Given the description of an element on the screen output the (x, y) to click on. 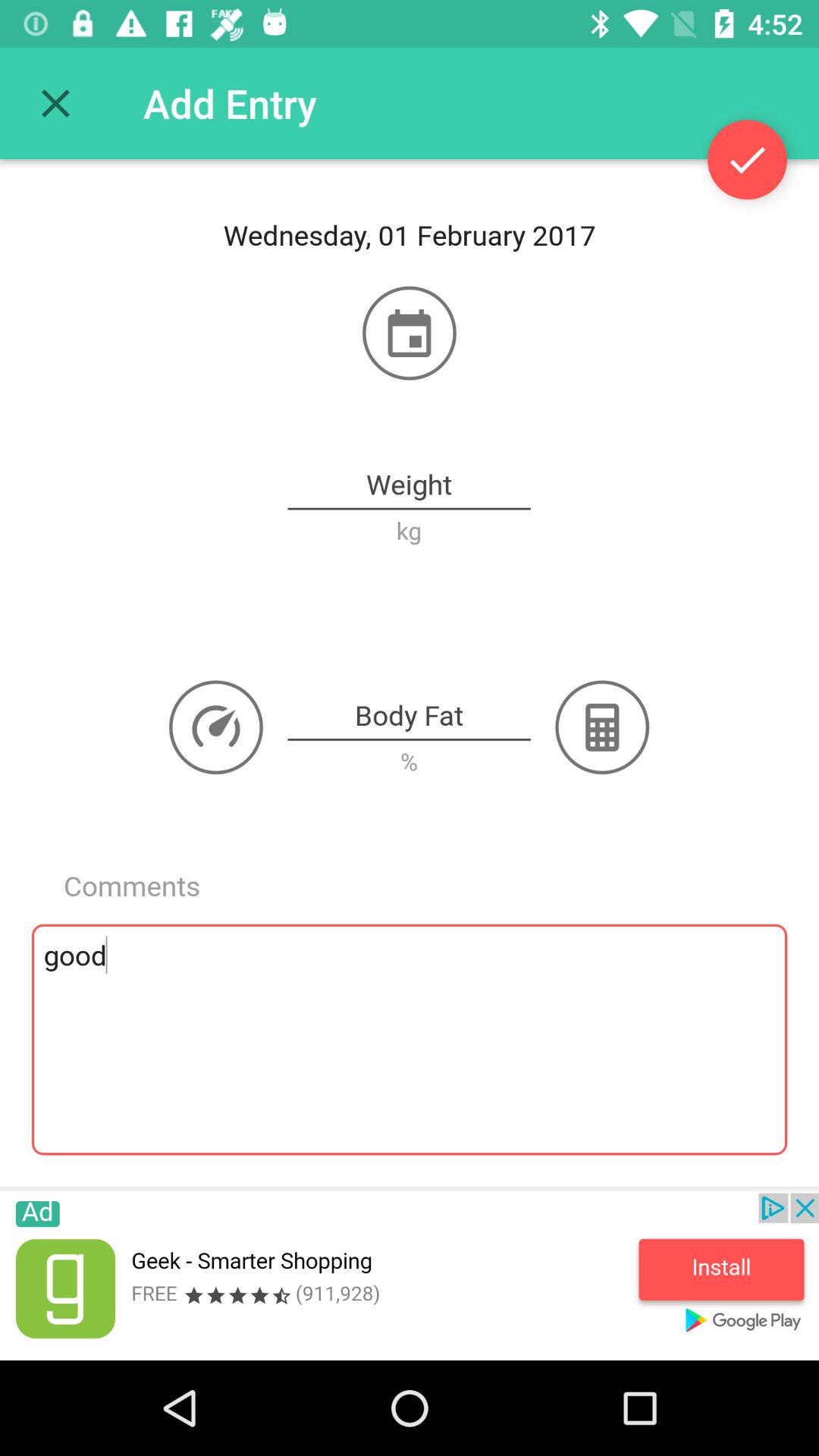
go to close patturn (55, 103)
